Given the description of an element on the screen output the (x, y) to click on. 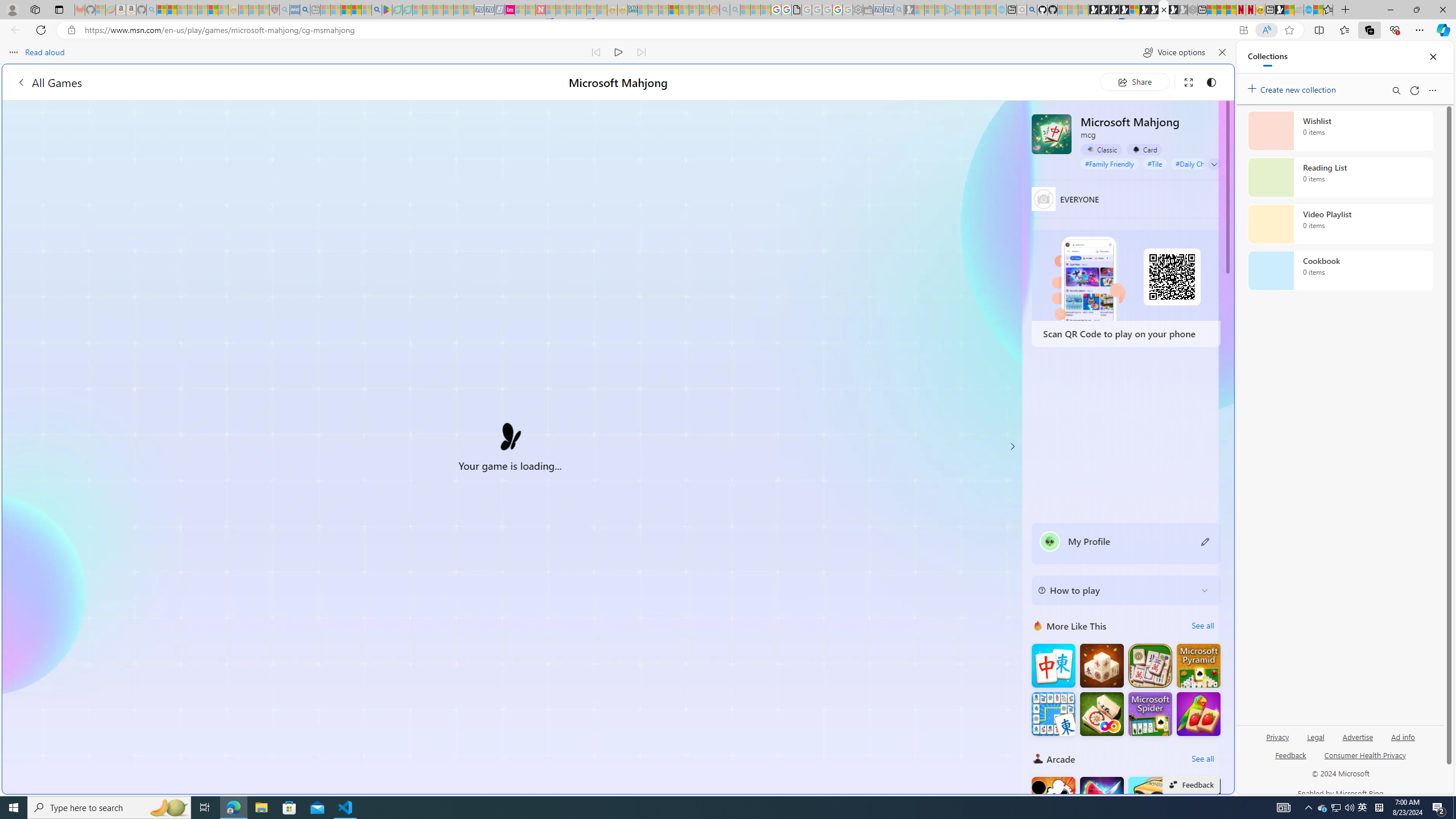
Terms of Use Agreement - Sleeping (397, 9)
Microsoft account | Privacy (161, 9)
New tab (1269, 9)
#Daily Challenge (1200, 163)
Utah sues federal government - Search - Sleeping (735, 9)
Full screen (1187, 81)
Personal Profile (12, 9)
App bar (728, 29)
Daily Mahjong (1149, 665)
New Tab (1346, 9)
Search (1396, 90)
list of asthma inhalers uk - Search - Sleeping (284, 9)
See all (1202, 758)
